Given the description of an element on the screen output the (x, y) to click on. 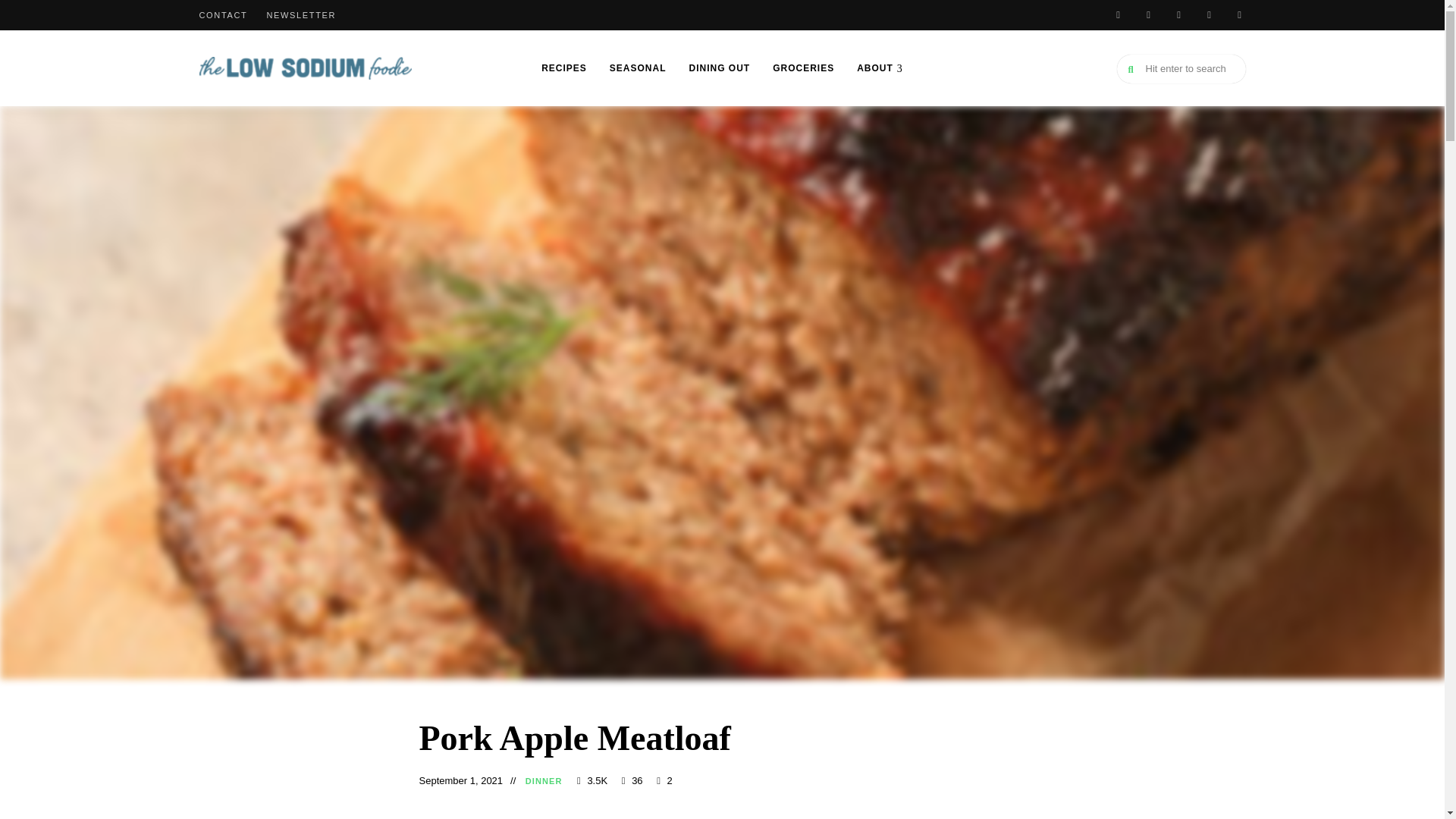
ABOUT (879, 68)
GROCERIES (803, 68)
CONTACT (222, 15)
DINING OUT (719, 68)
youtube (1178, 15)
twitter (1208, 15)
NEWSLETTER (301, 15)
RECIPES (563, 68)
instagram (1238, 15)
pinterest (1117, 15)
